Given the description of an element on the screen output the (x, y) to click on. 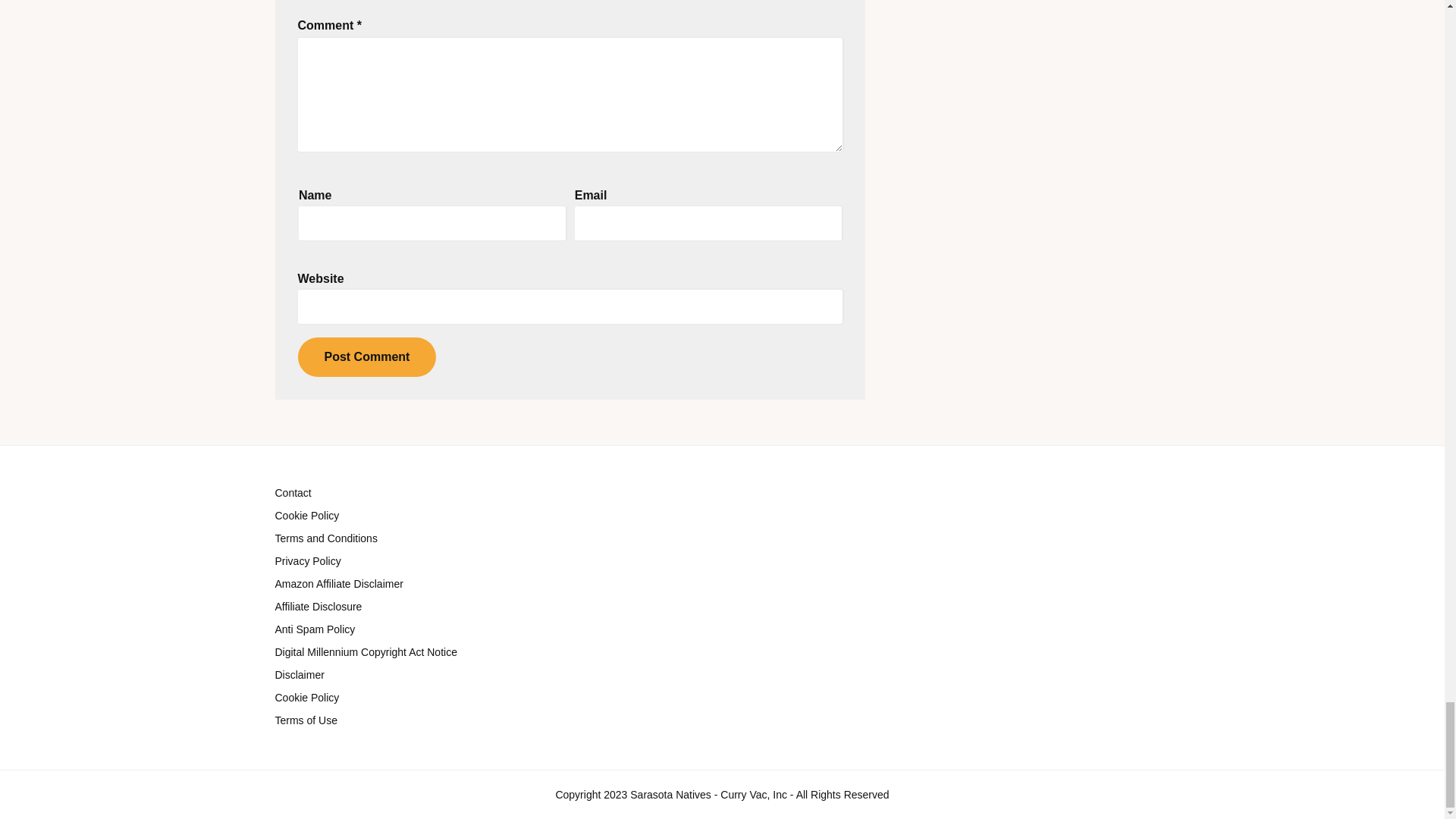
Post Comment (366, 356)
